Given the description of an element on the screen output the (x, y) to click on. 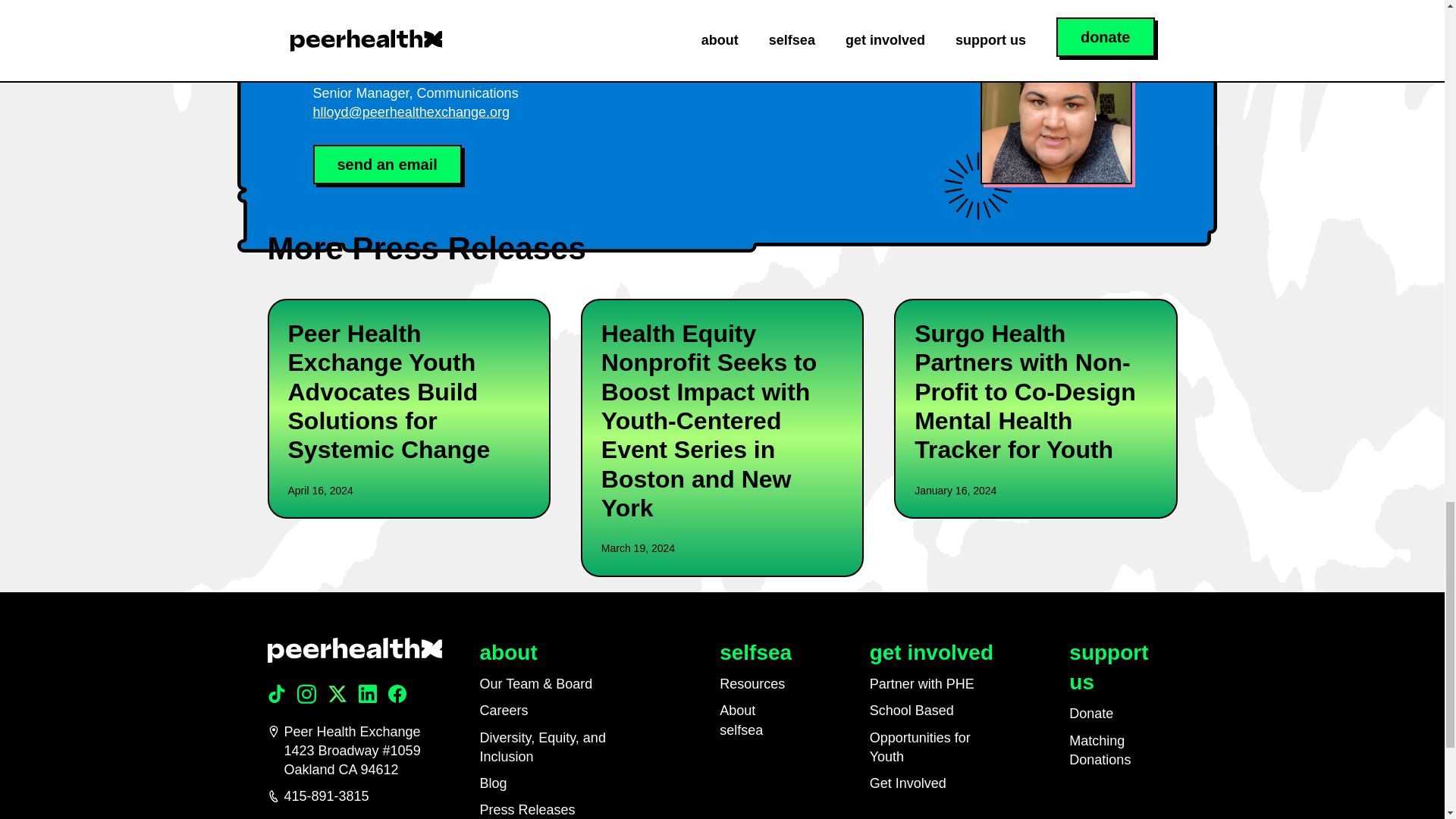
send an email (387, 164)
about (508, 652)
415-891-3815 (353, 796)
